Given the description of an element on the screen output the (x, y) to click on. 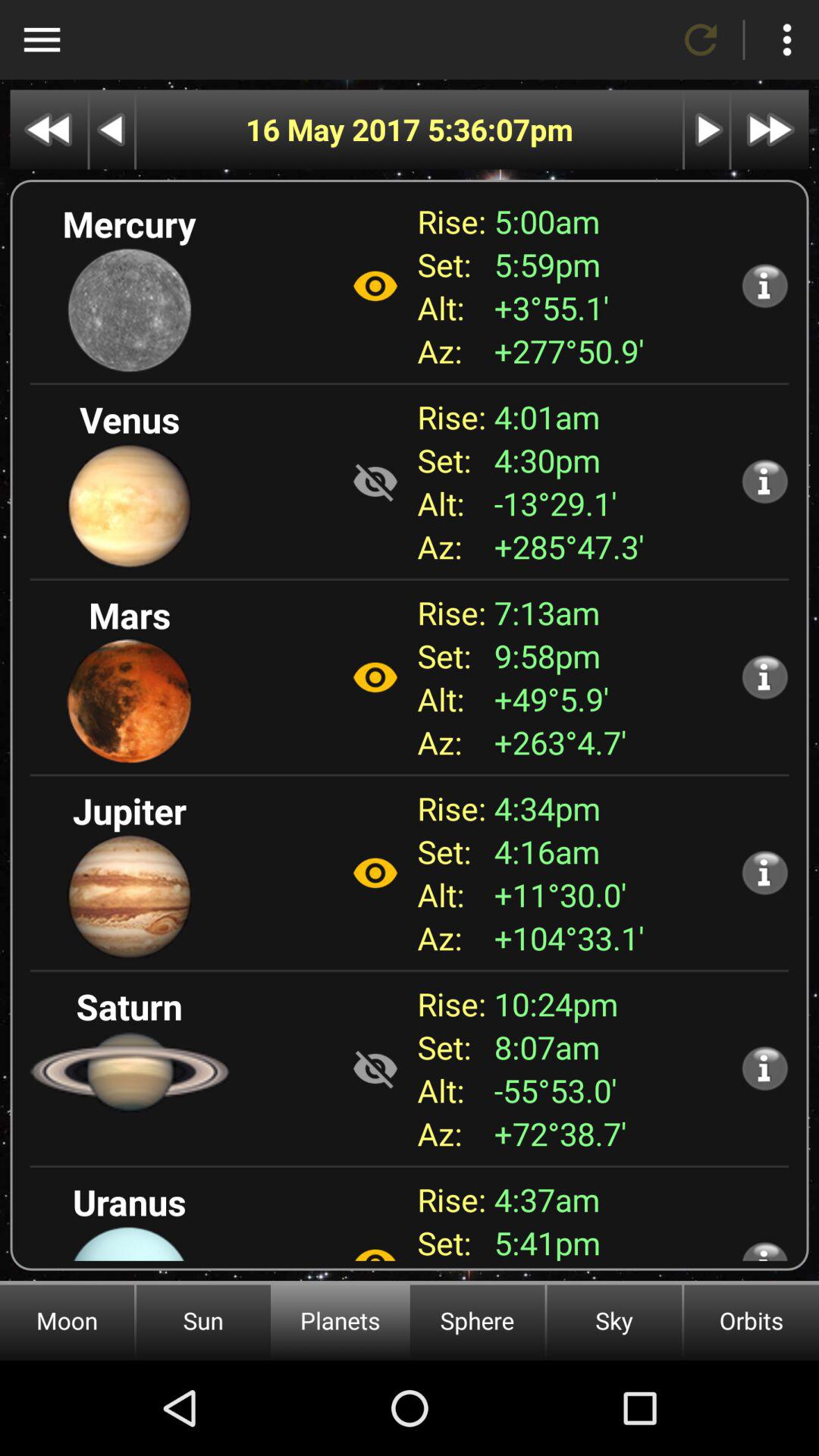
toggle visibility (375, 285)
